Given the description of an element on the screen output the (x, y) to click on. 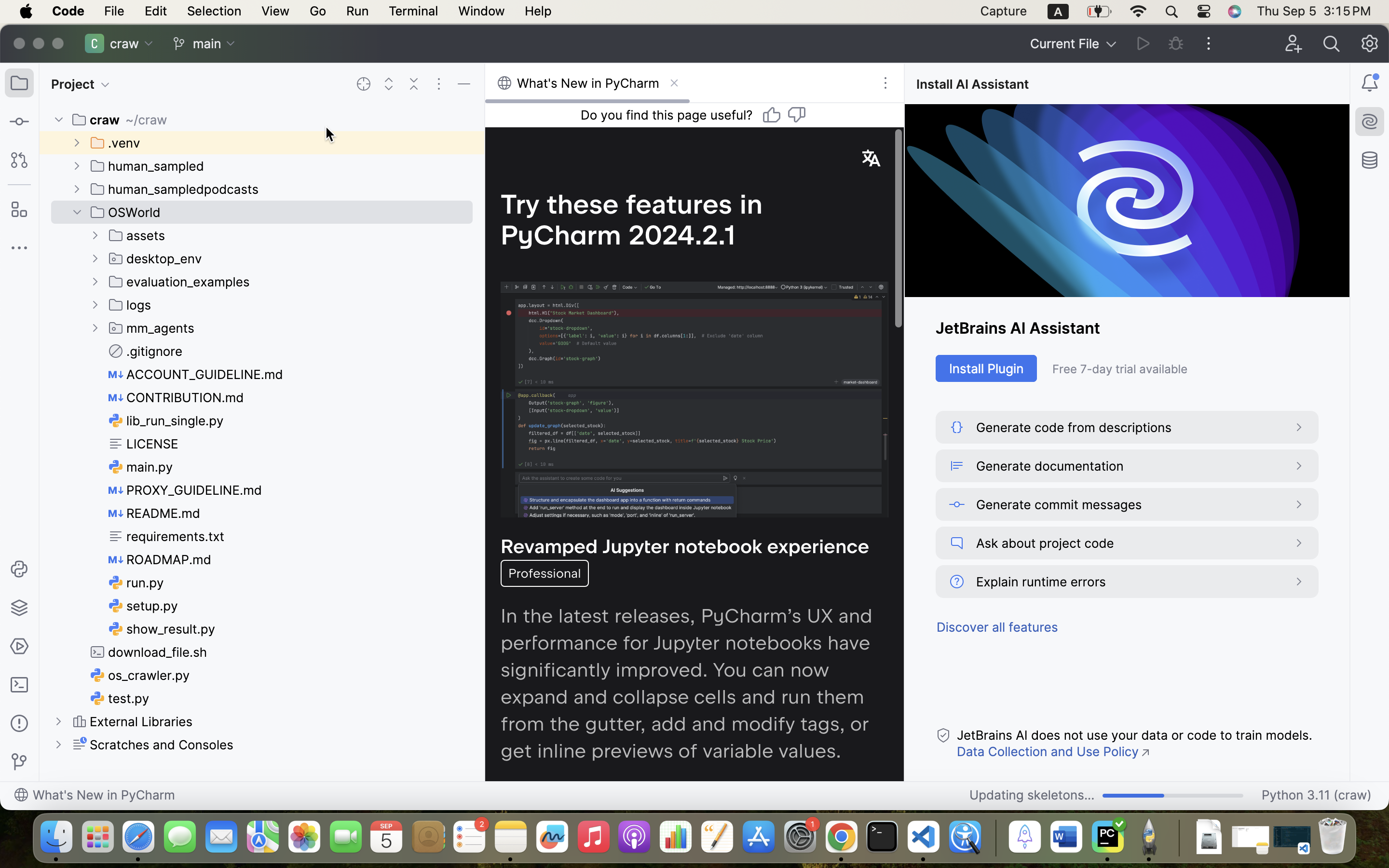
evaluation_examples Element type: AXStaticText (179, 281)
mm_agents Element type: AXStaticText (151, 327)
LICENSE Element type: AXStaticText (143, 443)
desktop_env Element type: AXStaticText (155, 258)
os_crawler.py Element type: AXStaticText (139, 674)
